Given the description of an element on the screen output the (x, y) to click on. 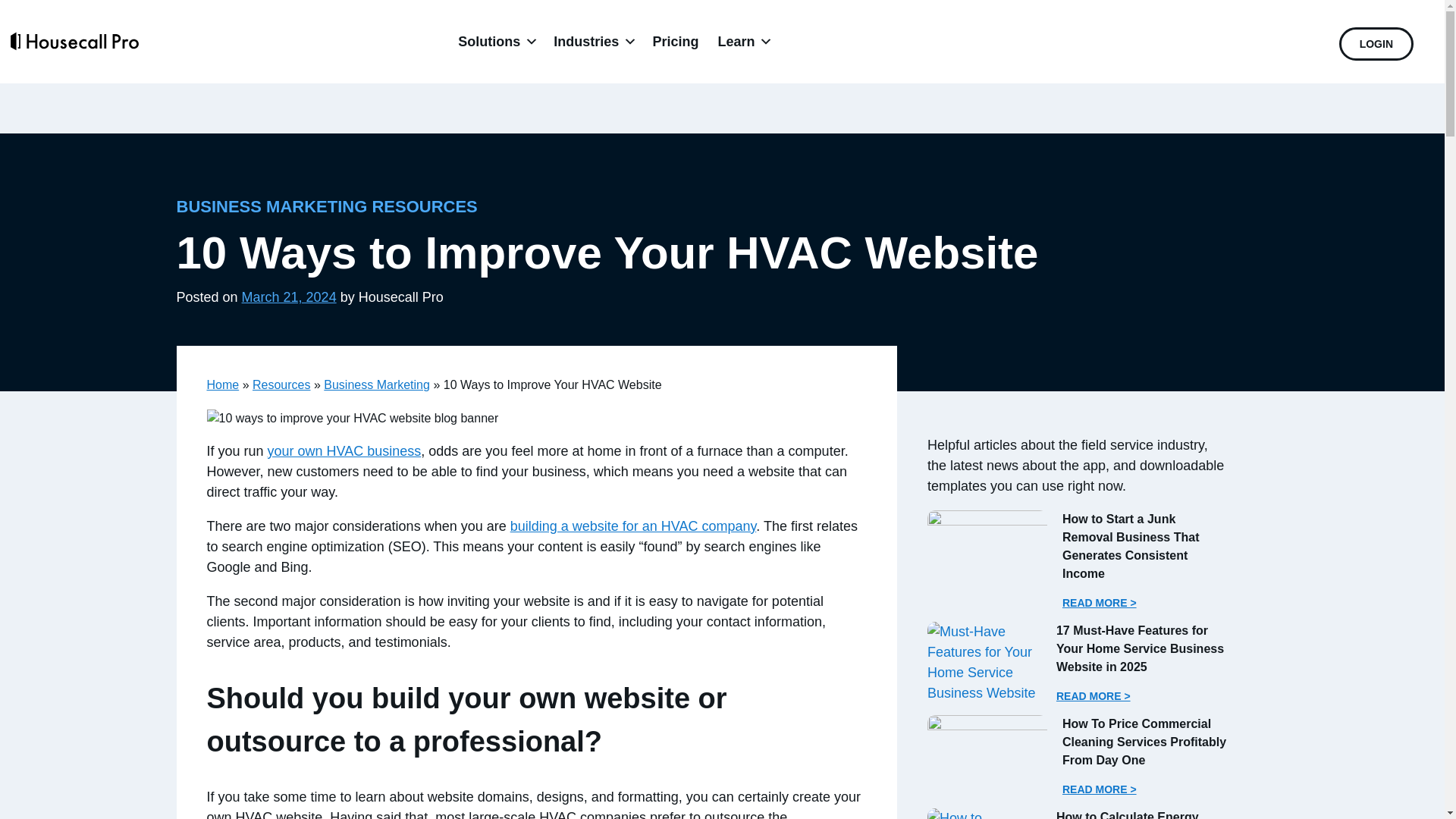
 - Housecall Pro (984, 813)
Business Marketing (376, 384)
Home (222, 384)
 - Housecall Pro (984, 662)
 - Housecall Pro (351, 418)
 - Housecall Pro (986, 544)
Resources (280, 384)
 - Housecall Pro (986, 748)
